Given the description of an element on the screen output the (x, y) to click on. 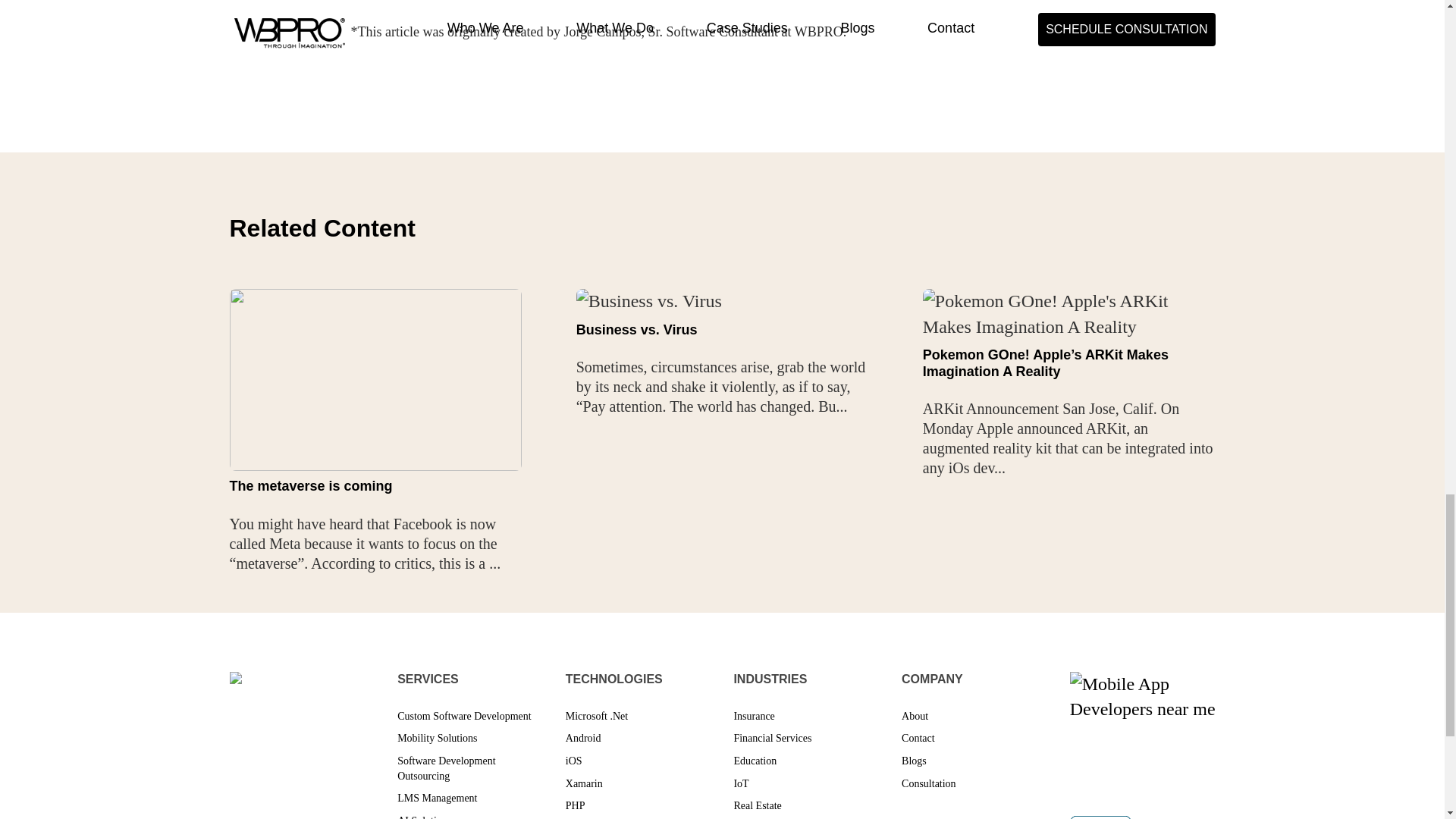
Microsoft .Net (596, 715)
Business vs. Virus (636, 329)
The metaverse is coming (309, 485)
Android (583, 737)
Mobility Solutions (437, 737)
Custom Software Development (464, 715)
AI Solutions (424, 816)
Software Development Outsourcing (446, 768)
LMS Management (437, 797)
